Given the description of an element on the screen output the (x, y) to click on. 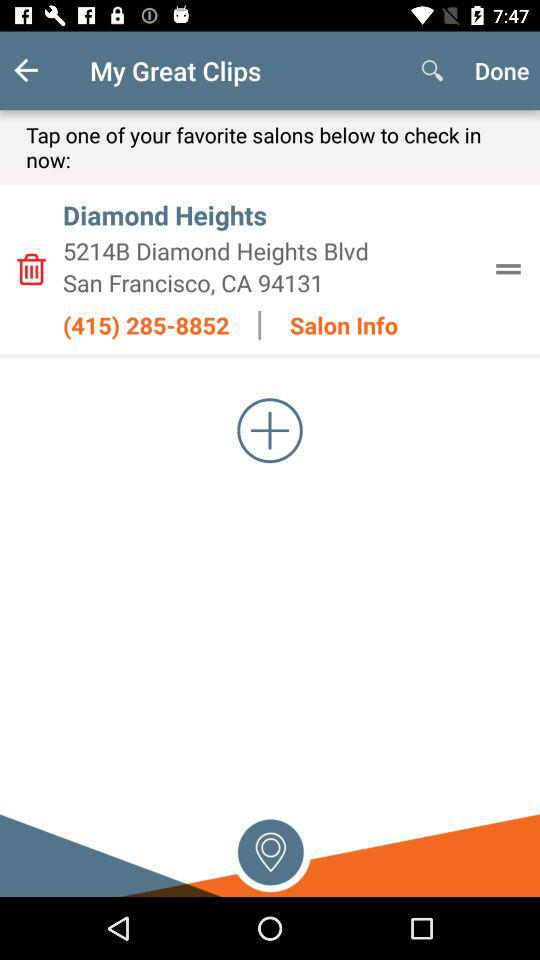
scroll to the 5214b diamond heights item (269, 250)
